Given the description of an element on the screen output the (x, y) to click on. 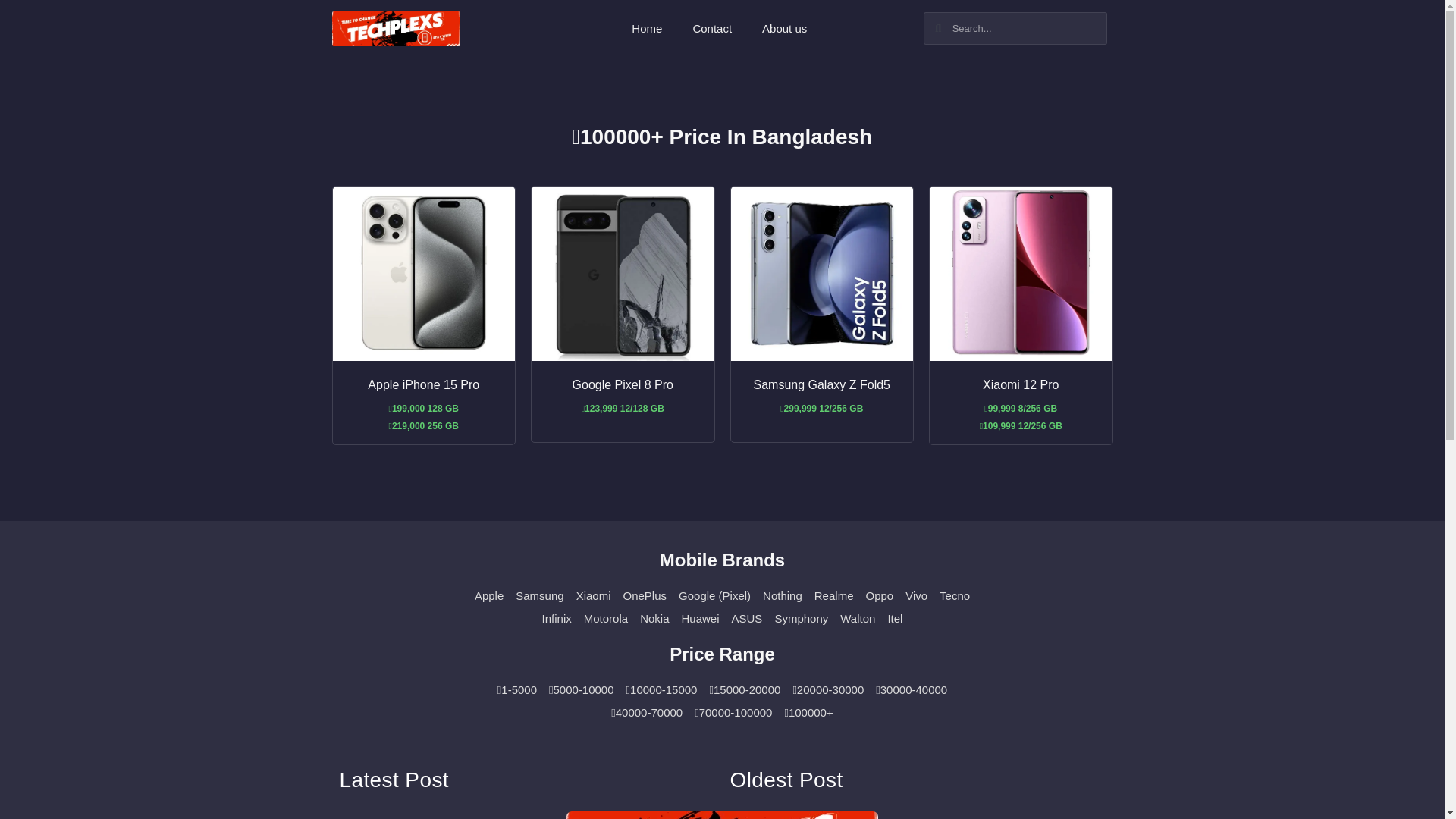
Samsung Galaxy Z Fold5 (822, 384)
Nothing (782, 595)
Symphony (801, 618)
Realme (833, 595)
Huawei (700, 618)
Oppo (878, 595)
Motorola (605, 618)
Xiaomi 12 Pro (1021, 384)
Infinix (556, 618)
Apple iPhone 15 Pro (423, 384)
Tecno (954, 595)
Home (646, 28)
OnePlus (644, 595)
Xiaomi (593, 595)
Vivo (916, 595)
